Given the description of an element on the screen output the (x, y) to click on. 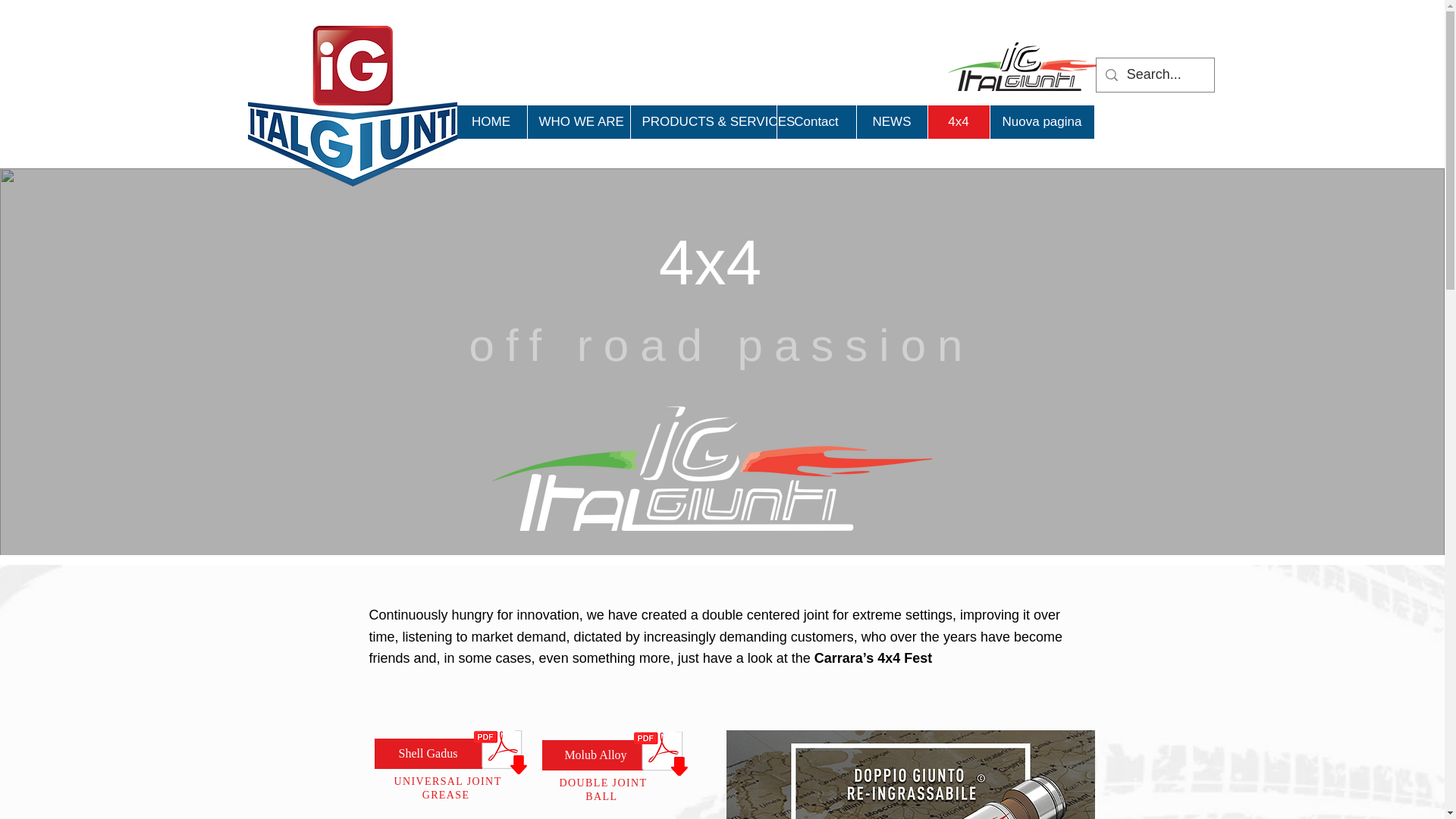
HOME (489, 121)
Shell Gadus (427, 753)
Italgiunti, Trasmissioni Cardaniche (352, 105)
Nuova pagina (1040, 121)
Molub Alloy (595, 755)
WHO WE ARE (576, 121)
Contact (816, 121)
4x4 (957, 121)
NEWS (891, 121)
